Given the description of an element on the screen output the (x, y) to click on. 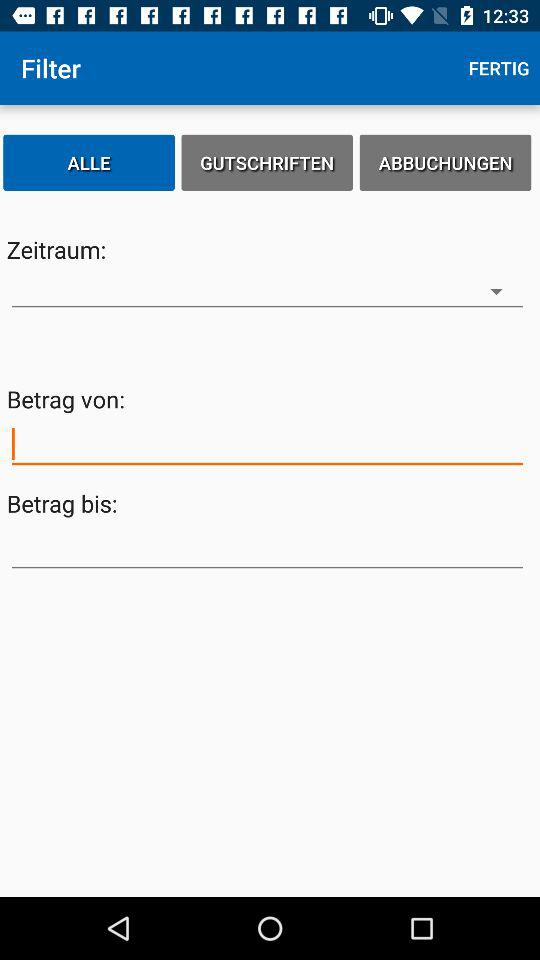
turn on the item below filter app (89, 162)
